Given the description of an element on the screen output the (x, y) to click on. 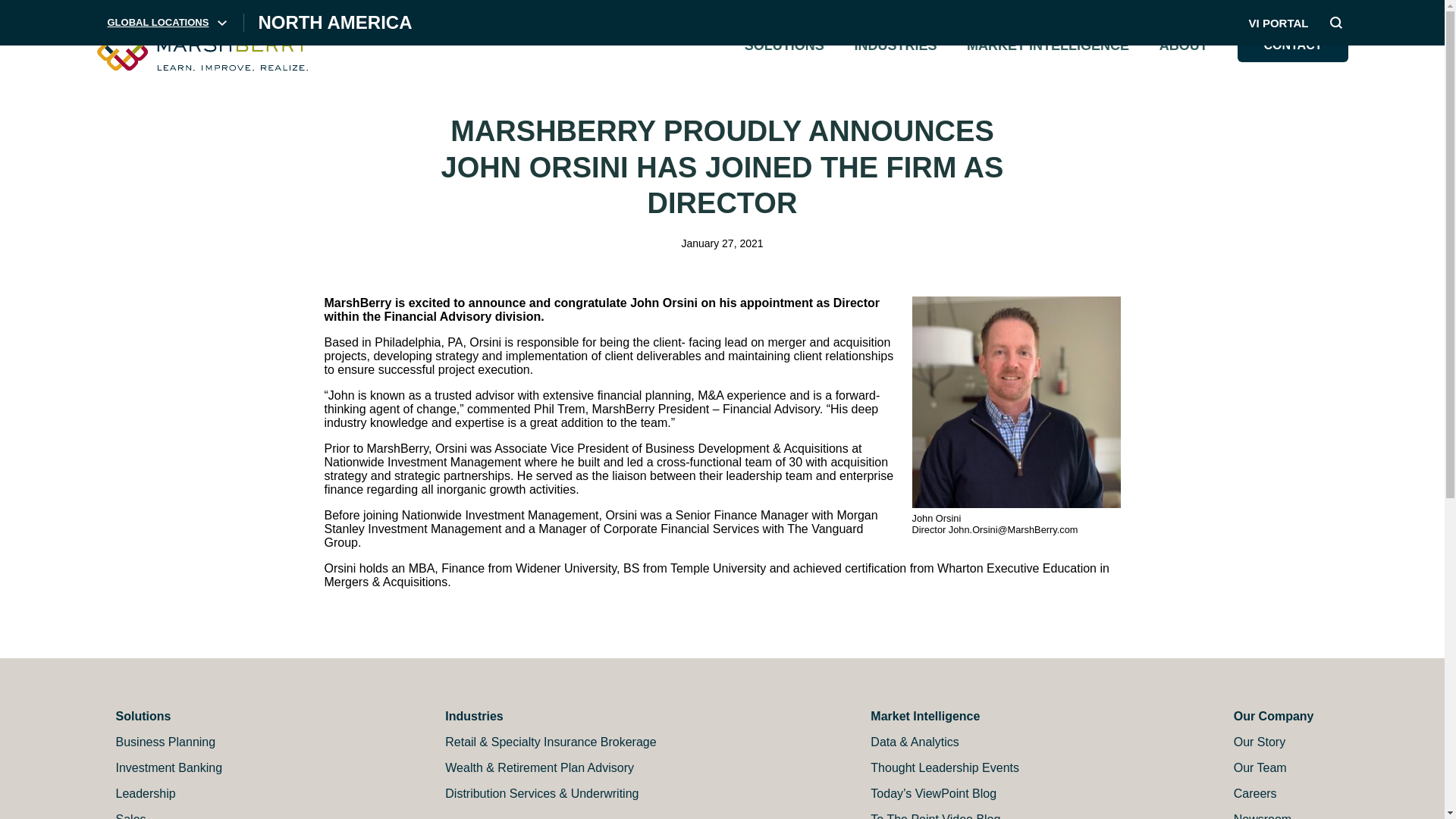
Search (1335, 22)
MarshBerry (202, 45)
SOLUTIONS (784, 45)
GLOBAL LOCATIONS (166, 22)
VI PORTAL (1278, 22)
